Given the description of an element on the screen output the (x, y) to click on. 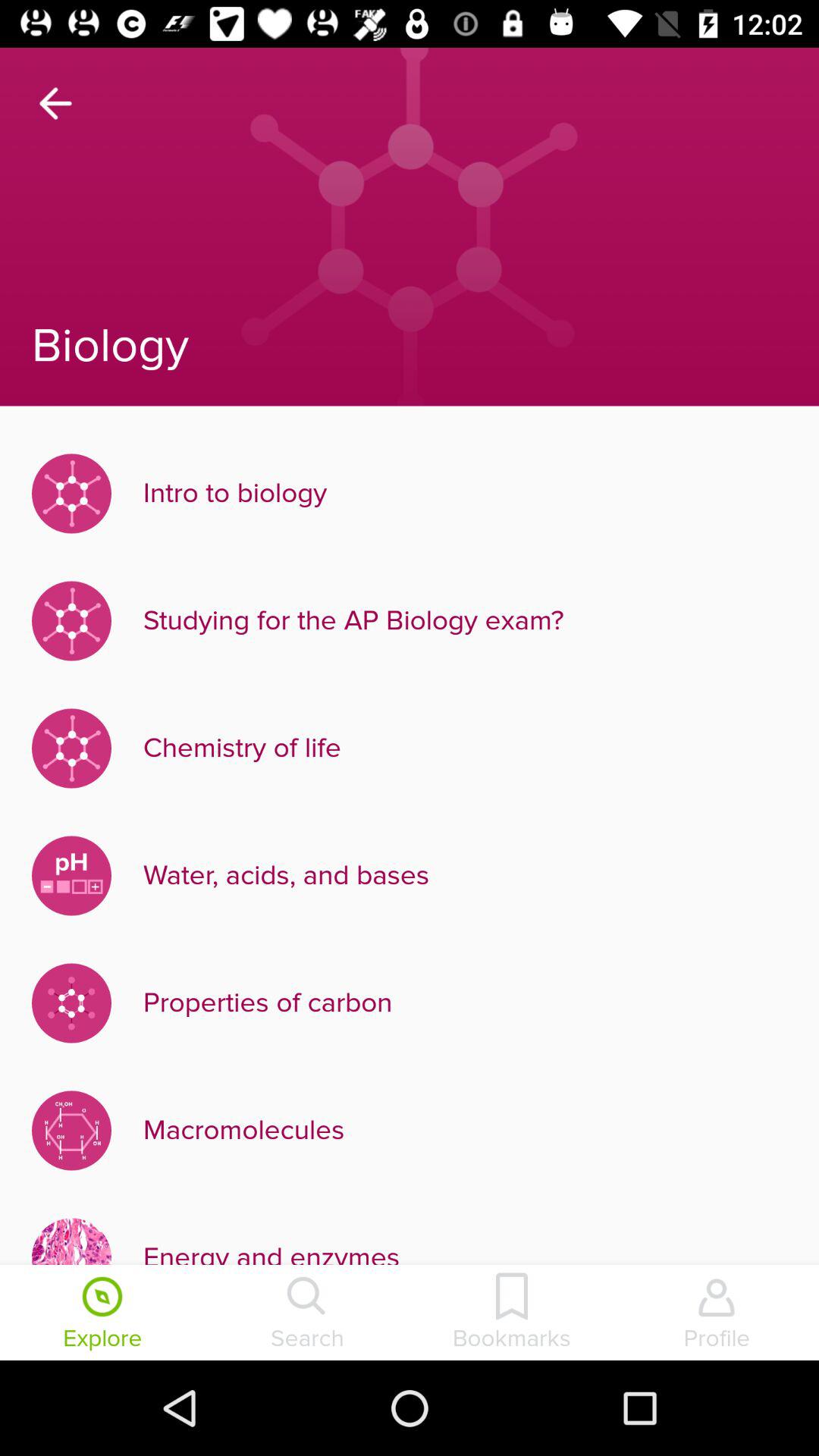
swipe to search (306, 1314)
